Given the description of an element on the screen output the (x, y) to click on. 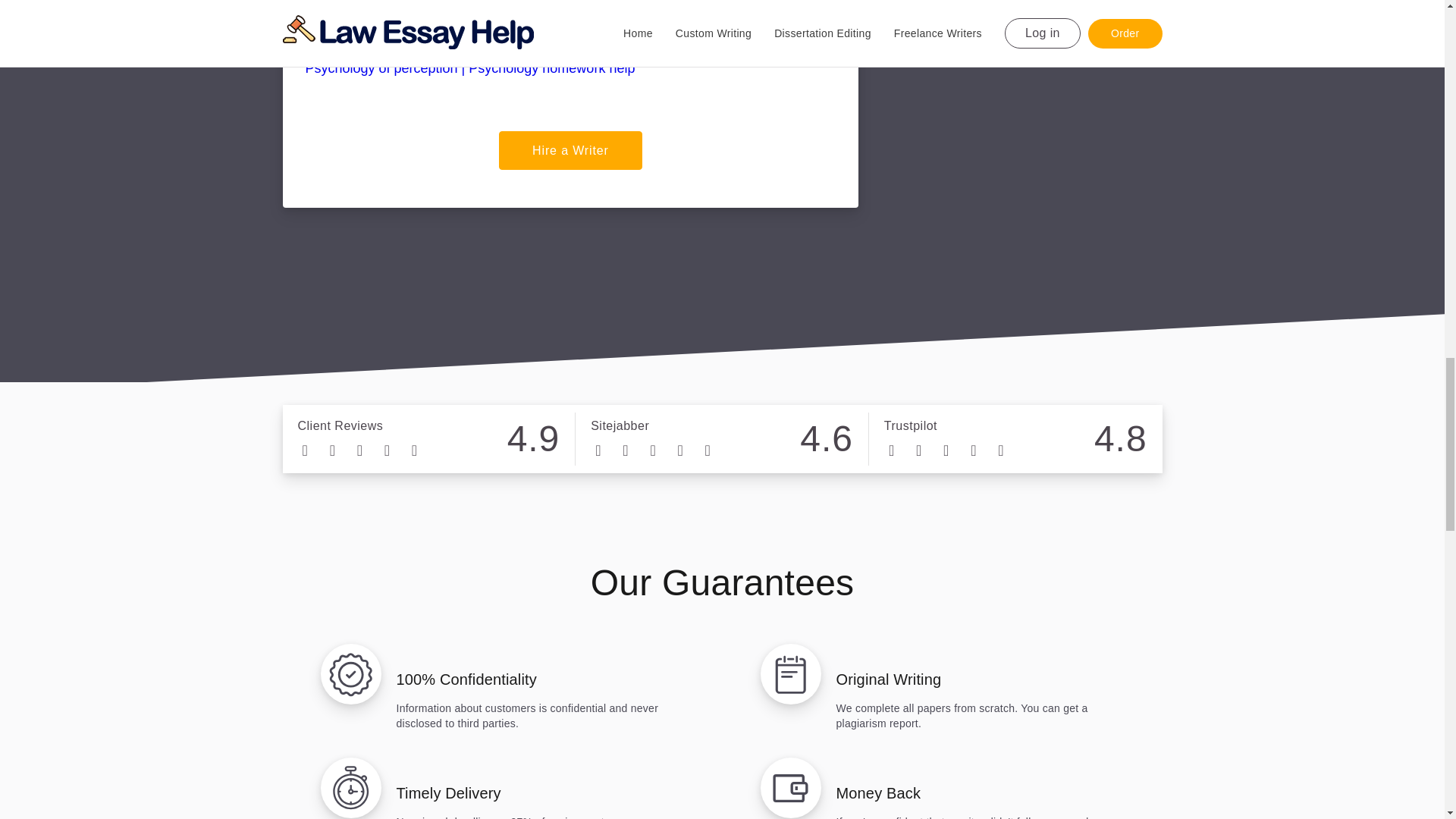
Hire a Writer (570, 150)
